Given the description of an element on the screen output the (x, y) to click on. 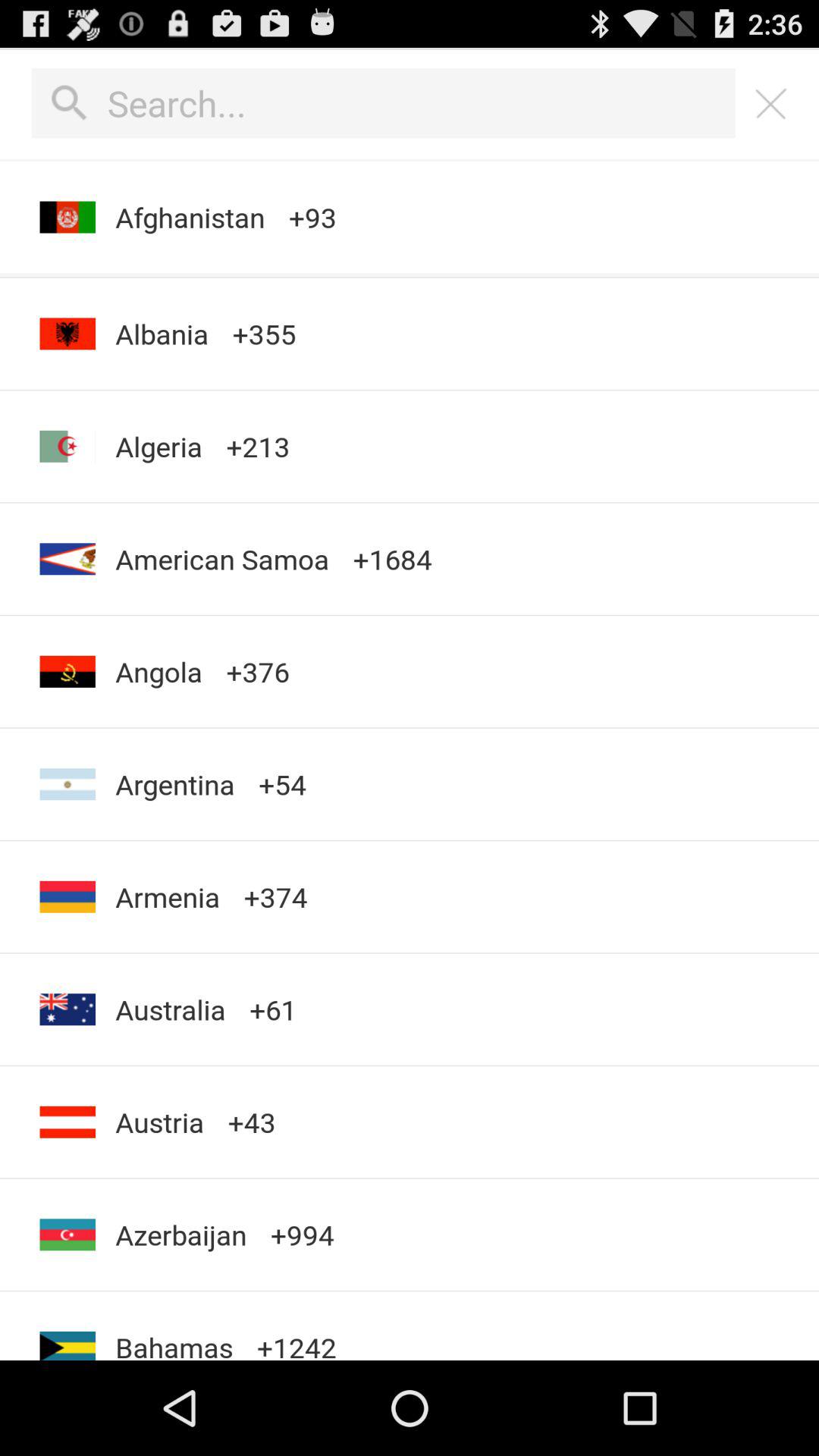
tap argentina icon (174, 784)
